Given the description of an element on the screen output the (x, y) to click on. 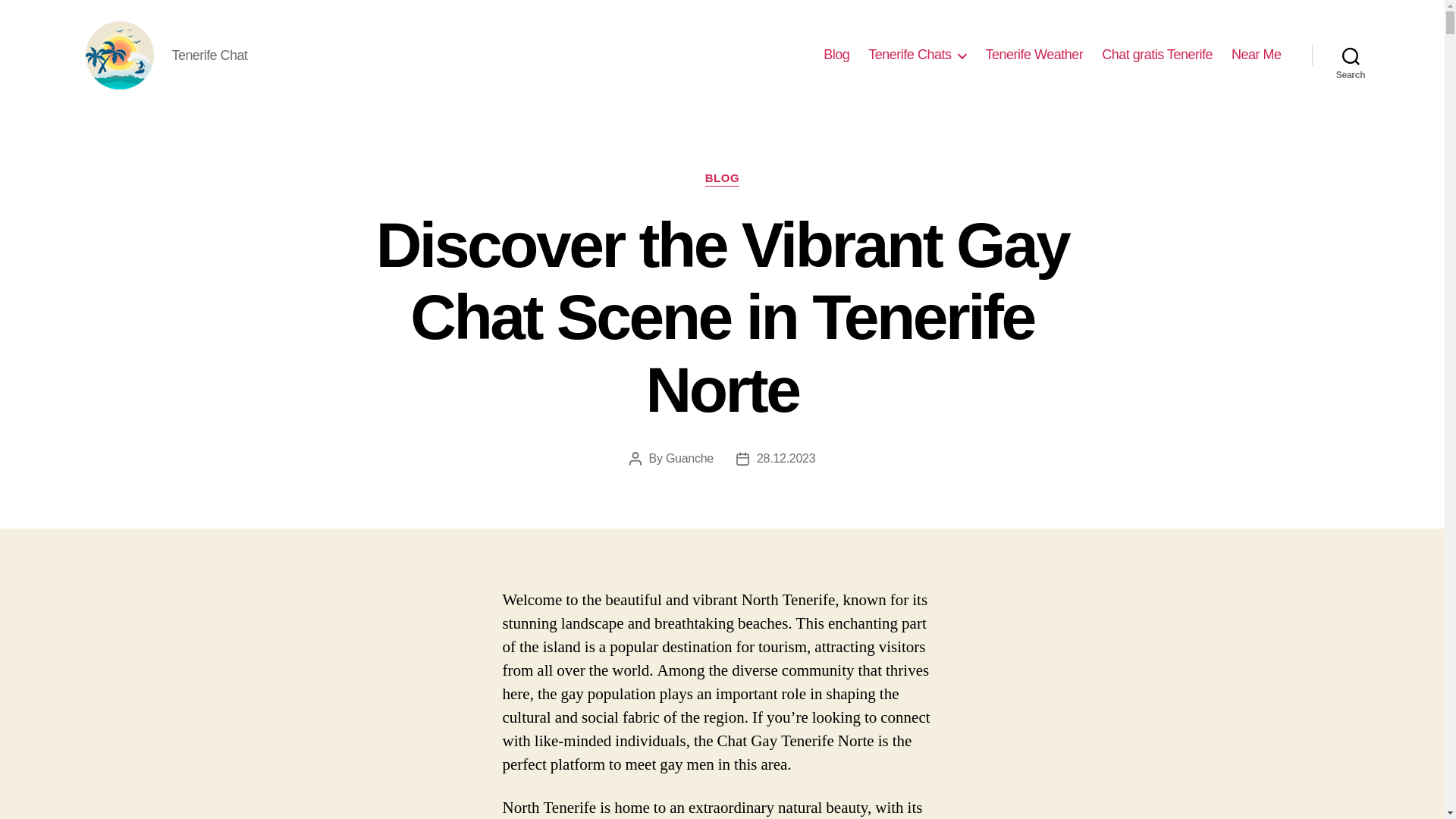
BLOG (721, 178)
Tenerife Chats (916, 54)
Chat gratis Tenerife (1157, 54)
Blog (836, 54)
28.12.2023 (786, 458)
Guanche (689, 458)
Tenerife Weather (1034, 54)
Near Me (1256, 54)
Search (1350, 55)
